Given the description of an element on the screen output the (x, y) to click on. 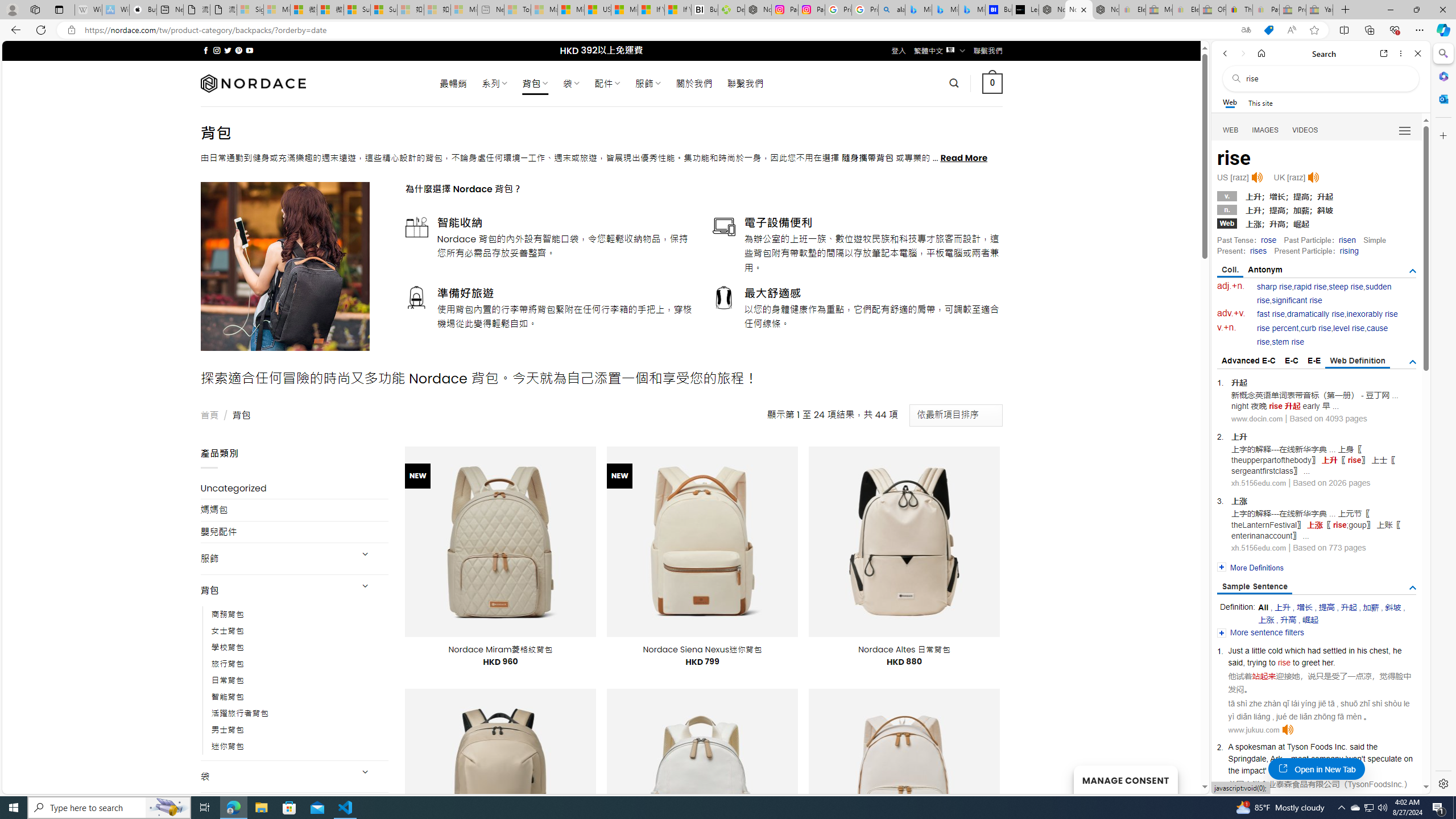
rising (1348, 250)
Advanced E-C (1248, 360)
Just (1235, 650)
Microsoft Bing Travel - Flights from Hong Kong to Bangkok (917, 9)
